Given the description of an element on the screen output the (x, y) to click on. 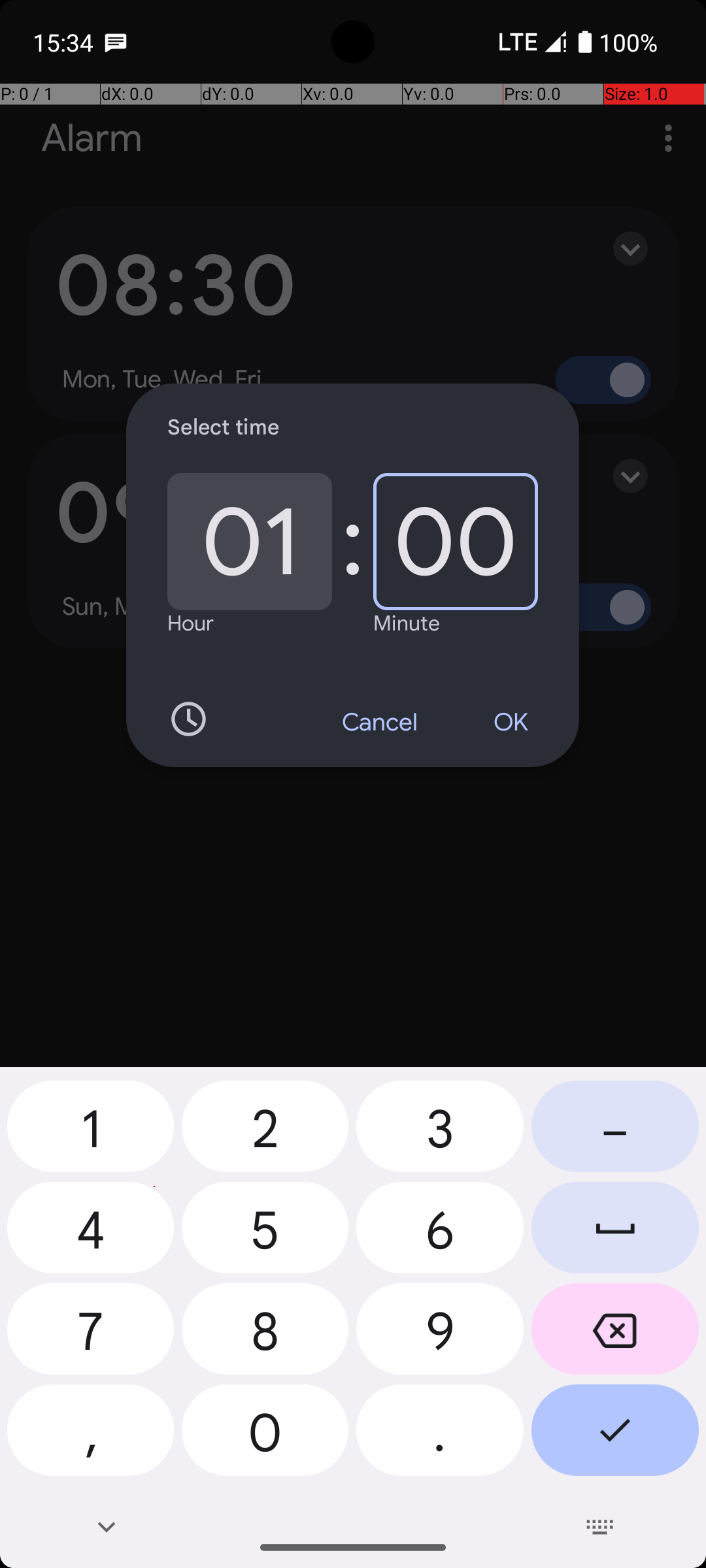
Hour Element type: android.widget.TextView (190, 623)
01 Element type: android.view.View (249, 541)
Minute Element type: android.widget.TextView (406, 623)
Switch to clock mode for the time input. Element type: android.widget.Button (188, 719)
